Given the description of an element on the screen output the (x, y) to click on. 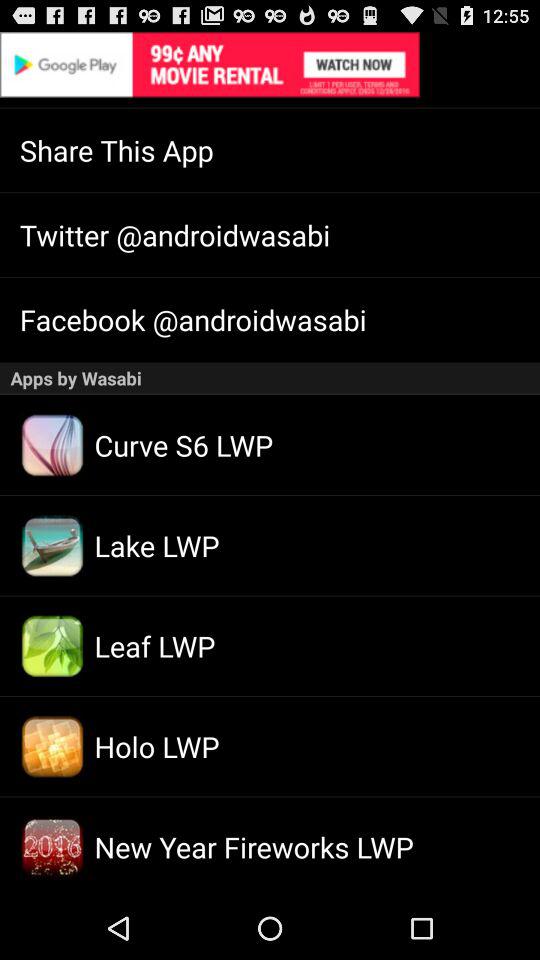
connect to advertisement (270, 64)
